Given the description of an element on the screen output the (x, y) to click on. 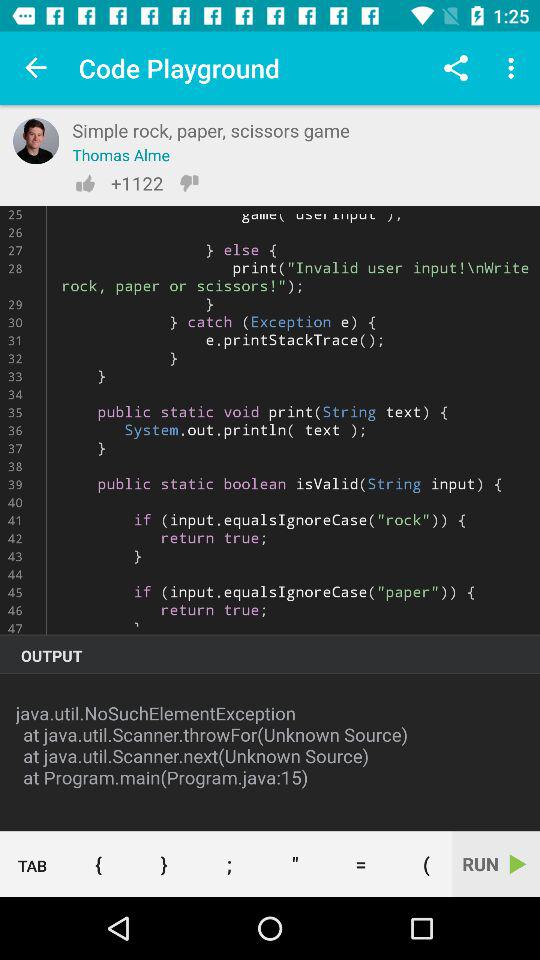
profile photo (36, 141)
